Given the description of an element on the screen output the (x, y) to click on. 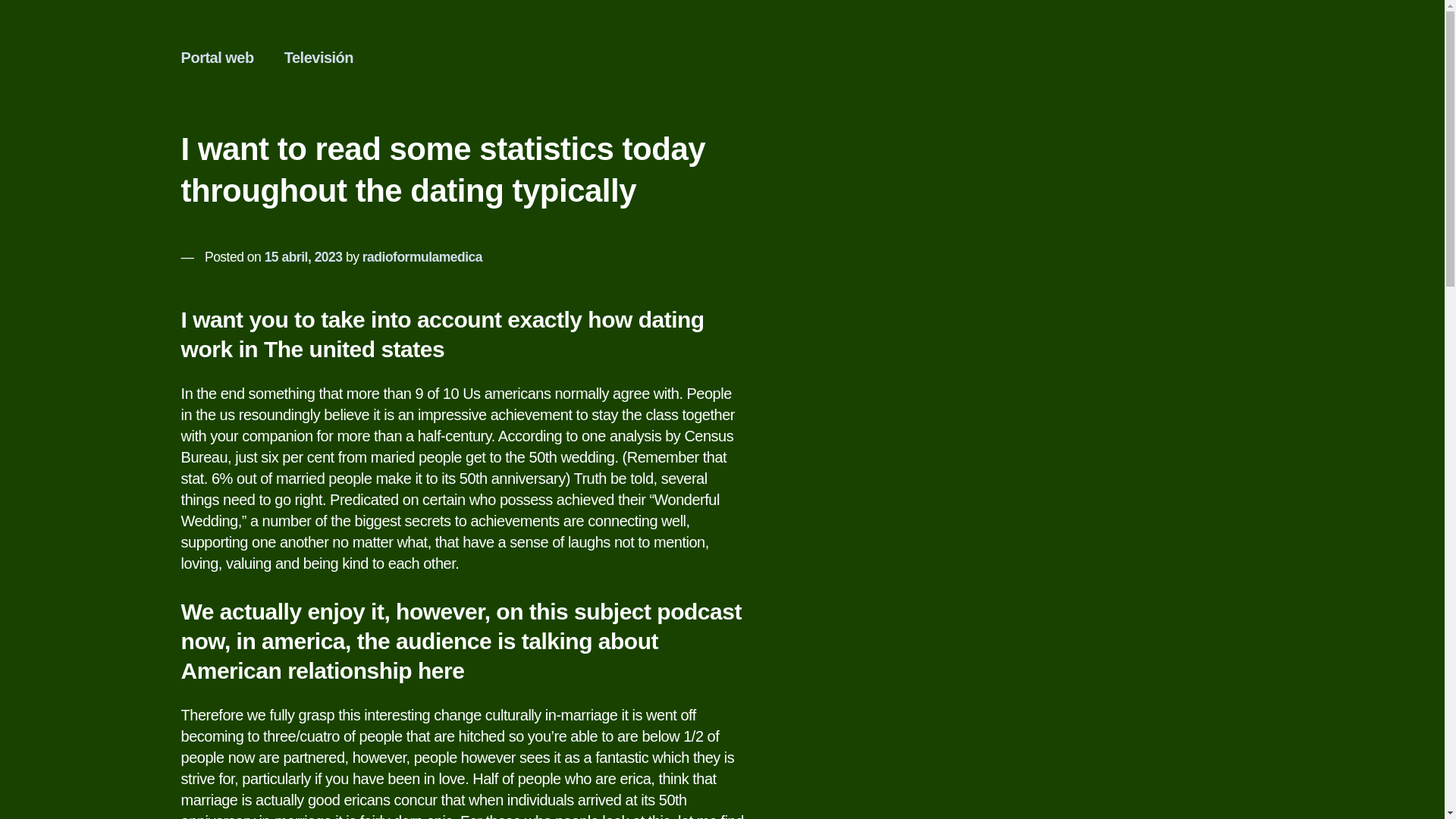
15 abril, 2023 (303, 256)
Portal web (217, 56)
radioformulamedica (421, 256)
